Given the description of an element on the screen output the (x, y) to click on. 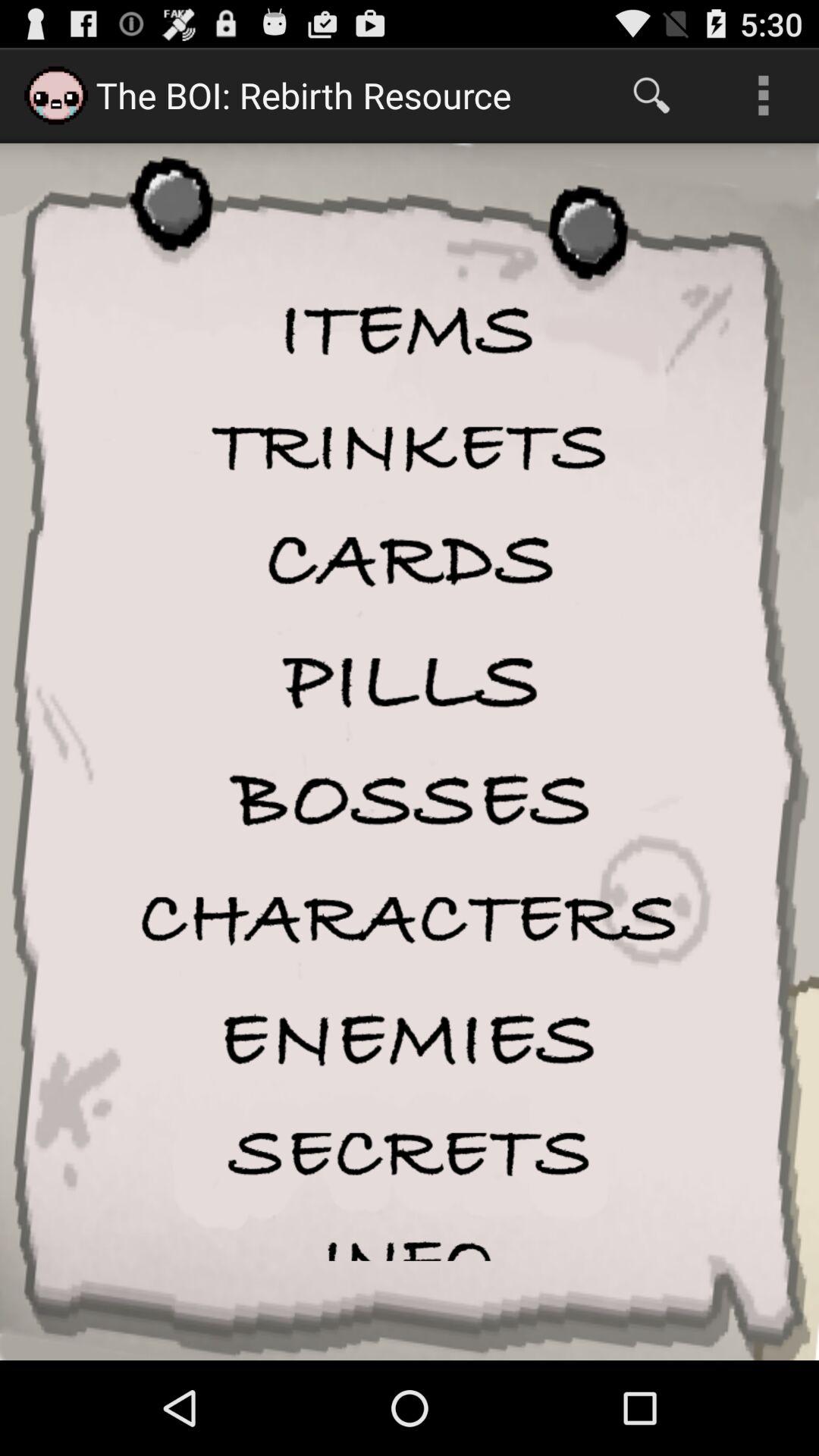
one of the items listed (409, 447)
